Given the description of an element on the screen output the (x, y) to click on. 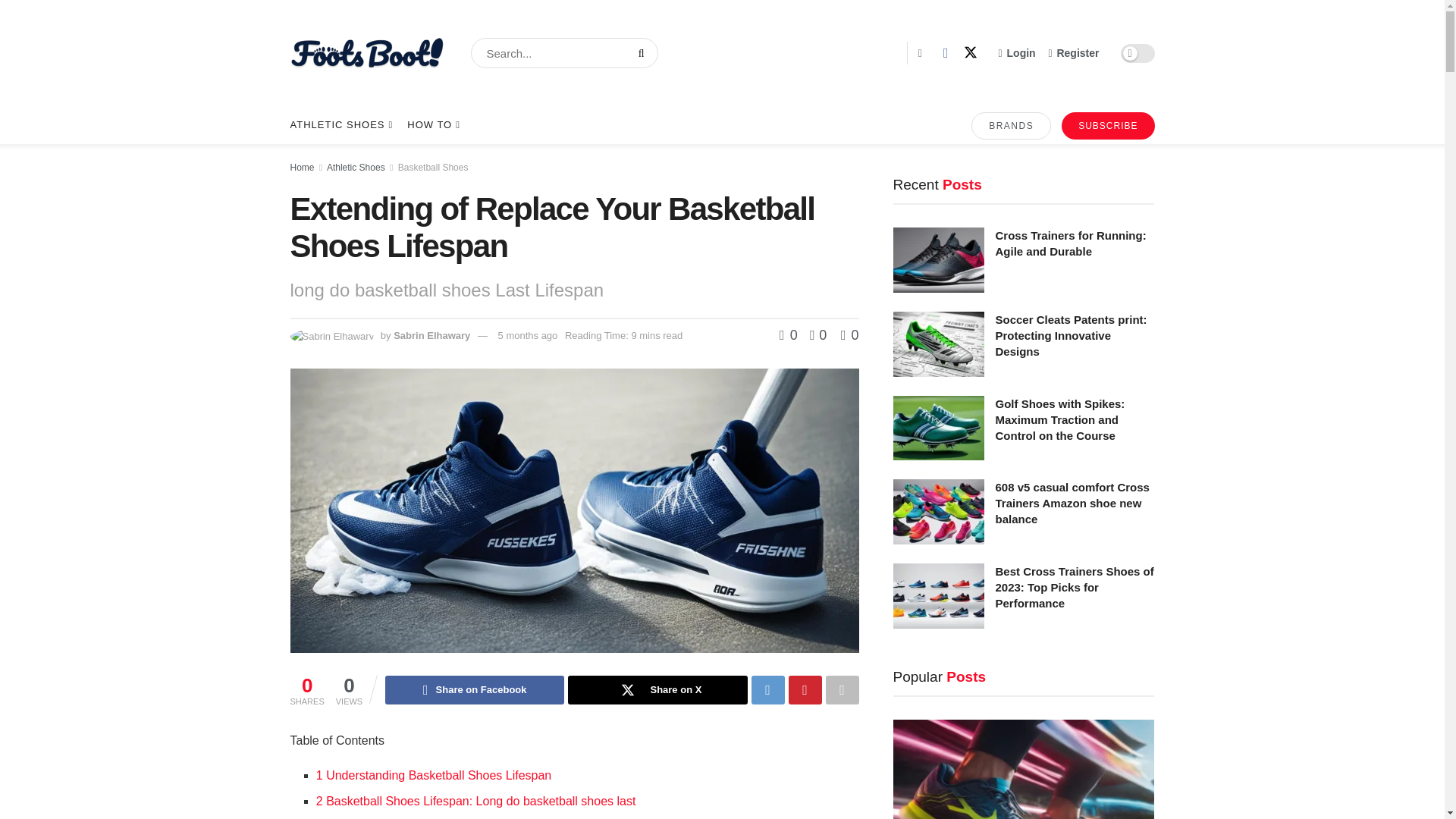
Register (1073, 53)
Sabrin Elhawary (431, 335)
Basketball Shoes (432, 167)
Login (1016, 53)
0 (790, 335)
5 months ago (527, 335)
Athletic Shoes (355, 167)
HOW TO (432, 125)
SUBSCRIBE (1107, 125)
Home (301, 167)
ATHLETIC SHOES (339, 125)
BRANDS (1011, 125)
